Given the description of an element on the screen output the (x, y) to click on. 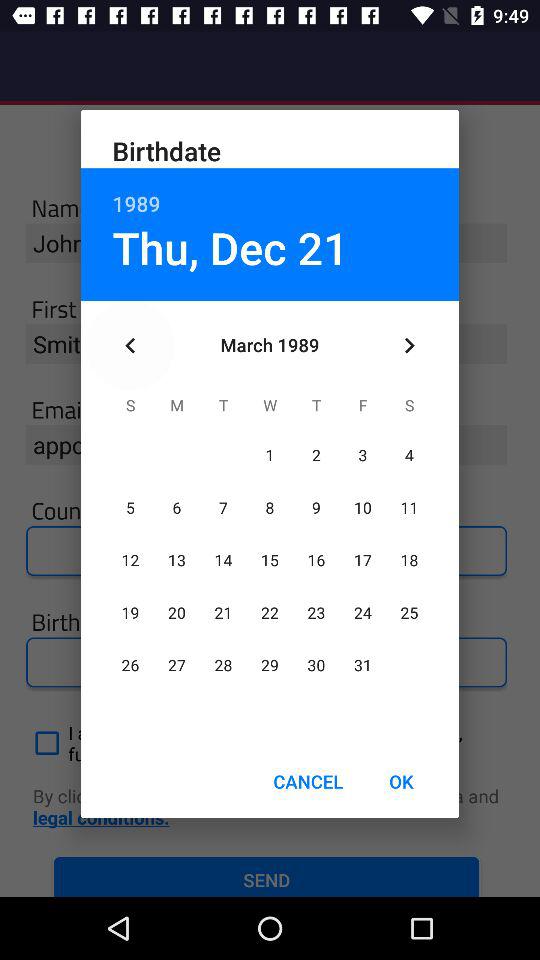
flip until 1989 item (269, 192)
